Given the description of an element on the screen output the (x, y) to click on. 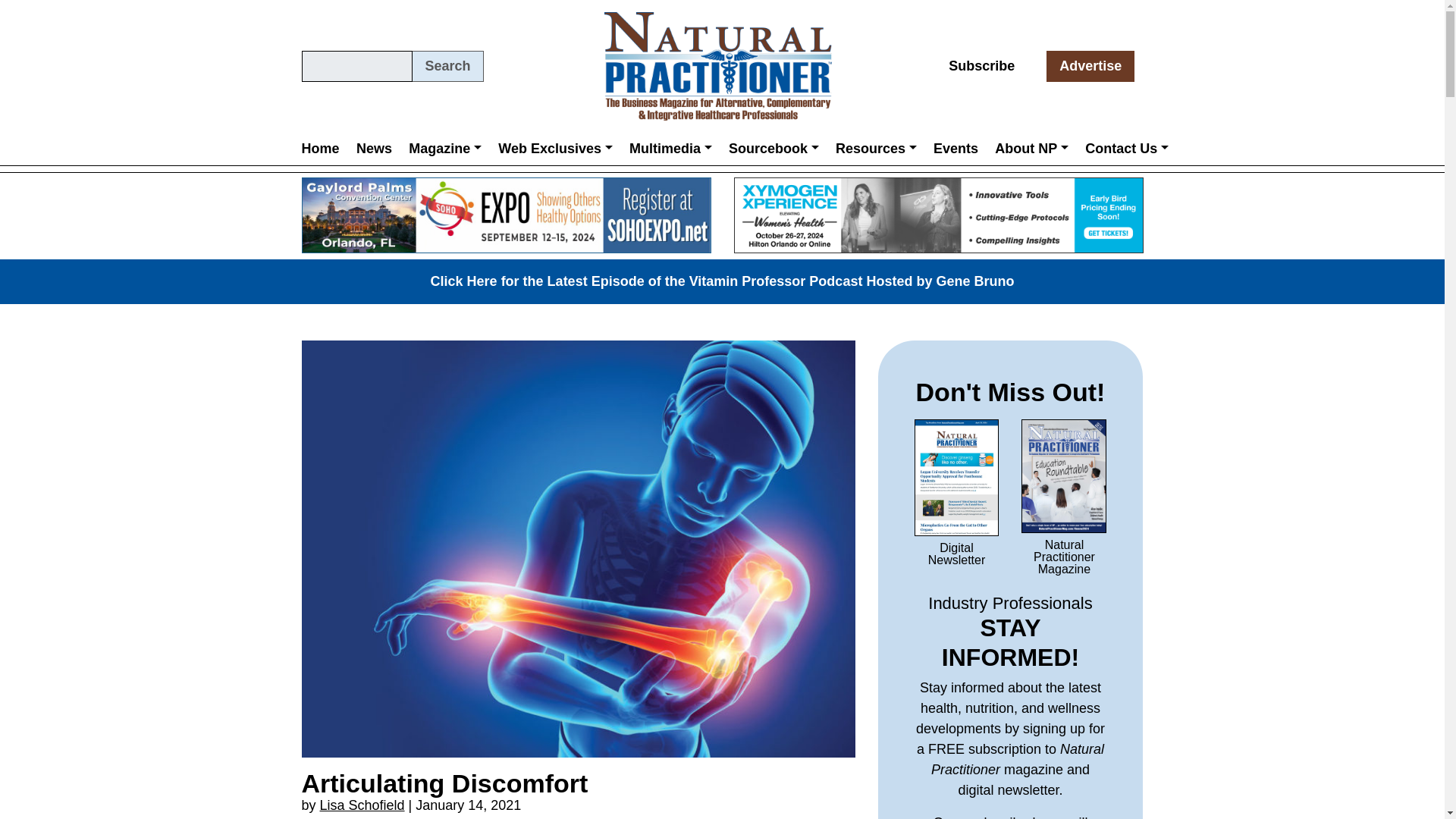
About NP (1032, 147)
News (373, 147)
Advertise (1090, 65)
Web Exclusives (555, 147)
Resources (875, 147)
Search (447, 65)
Web Exclusives (555, 147)
Magazine (444, 147)
News (373, 147)
Magazine (444, 147)
Home (324, 147)
Subscribe (982, 65)
Contact Us (1126, 147)
Home (324, 147)
Sourcebook (773, 147)
